Given the description of an element on the screen output the (x, y) to click on. 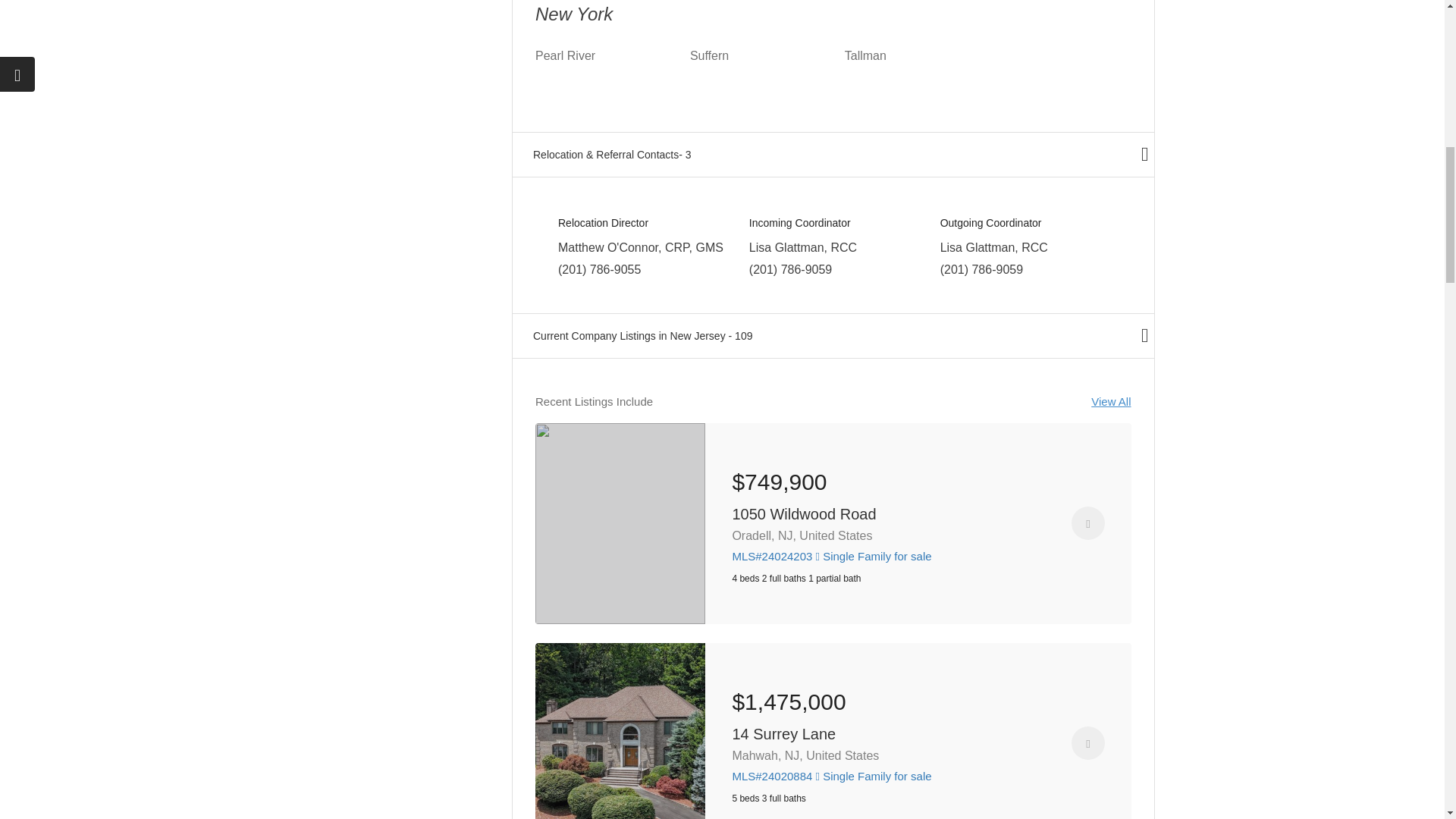
View All (1110, 401)
Current Company Listings in New Jersey - 109 (833, 335)
